Given the description of an element on the screen output the (x, y) to click on. 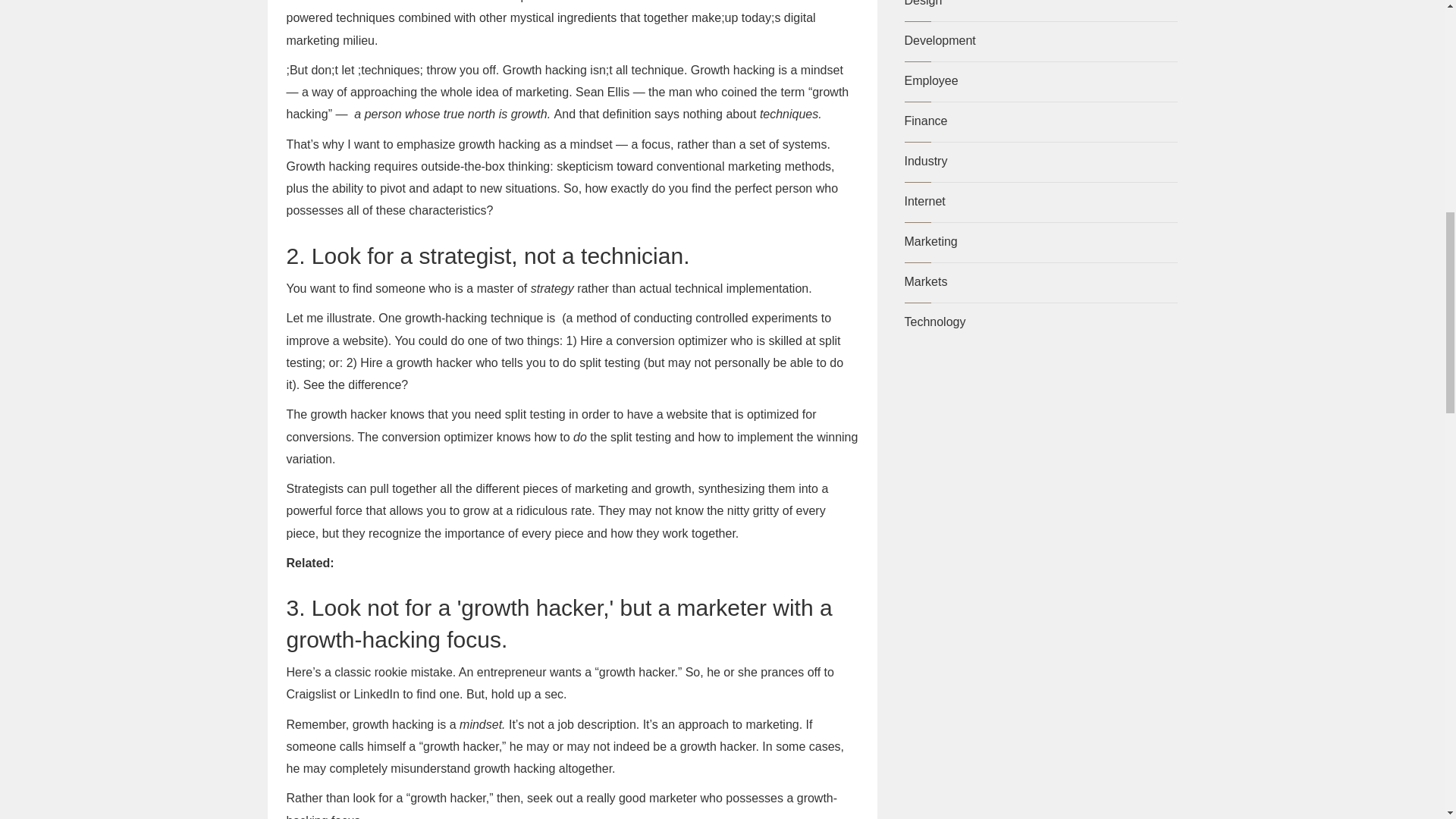
Finance (925, 120)
Industry (925, 160)
Design (923, 3)
Marketing (930, 241)
Employee (931, 80)
Internet (924, 201)
Markets (925, 281)
Development (939, 40)
